Given the description of an element on the screen output the (x, y) to click on. 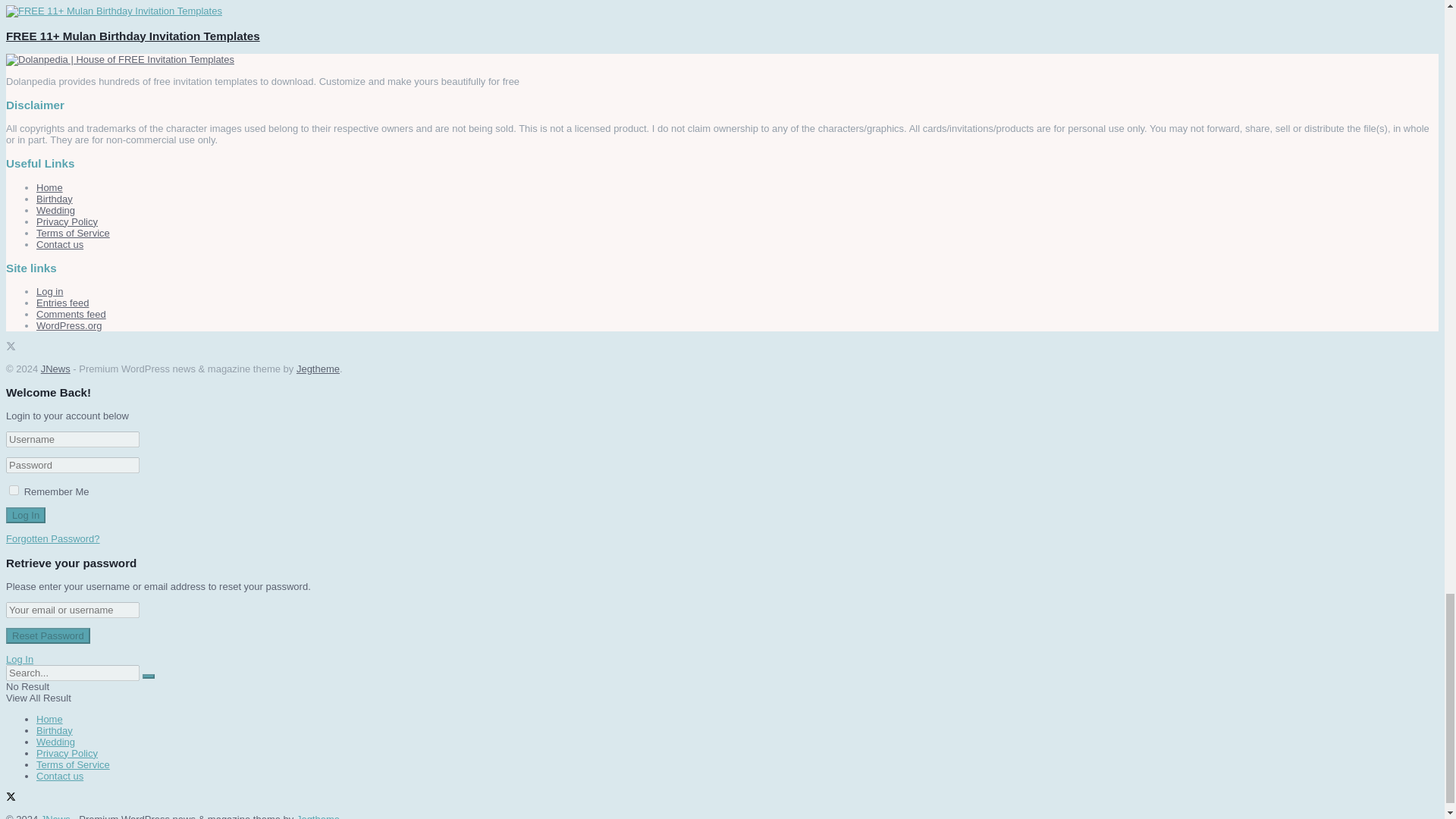
true (13, 490)
Jegtheme (318, 368)
Reset Password (47, 635)
Log In (25, 514)
